Given the description of an element on the screen output the (x, y) to click on. 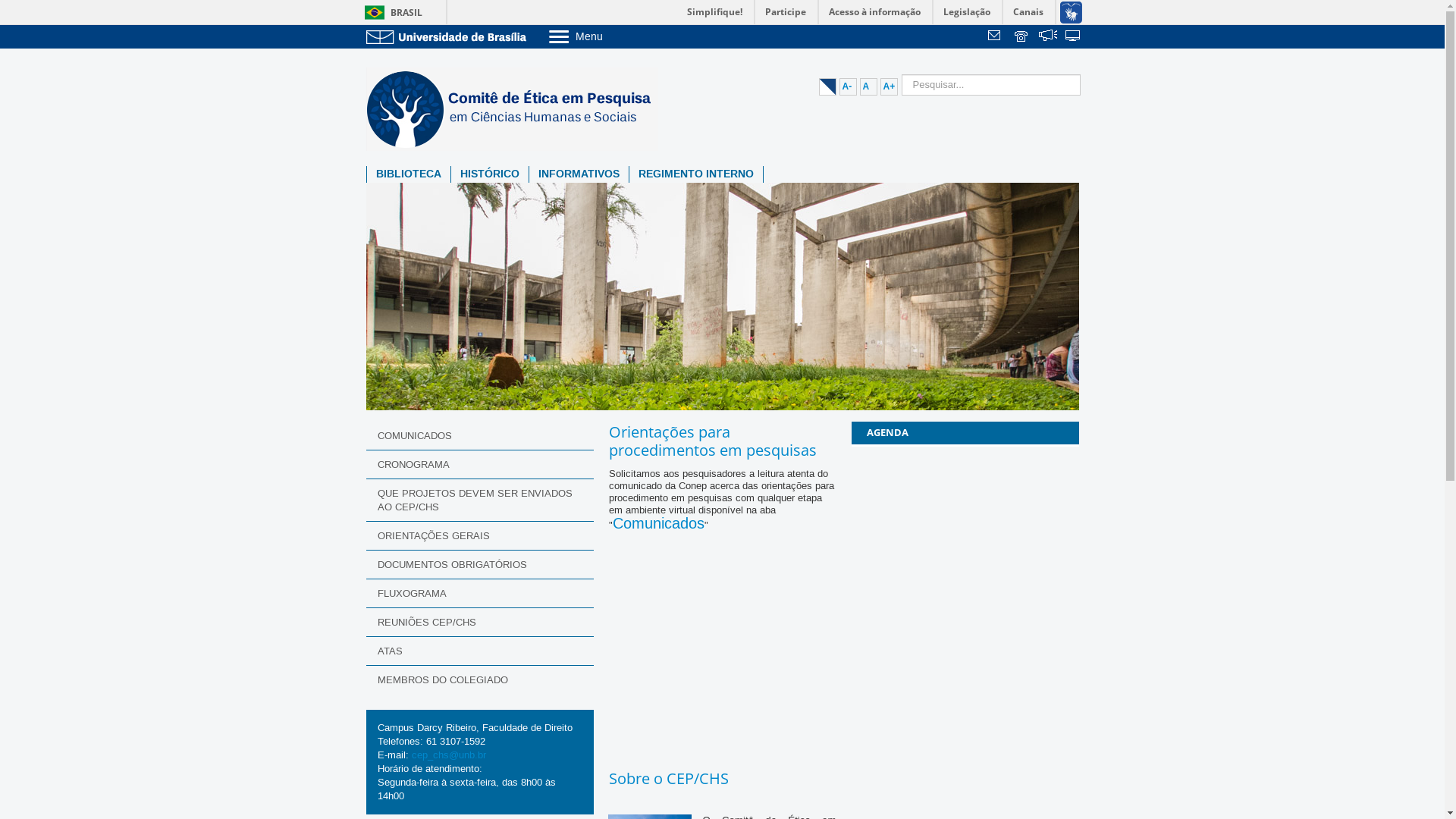
  Element type: text (1047, 37)
CRONOGRAMA Element type: text (479, 464)
Ir para o Portal da UnB Element type: hover (448, 36)
  Element type: text (996, 37)
Webmail Element type: hover (996, 37)
A+ Element type: text (888, 86)
Fala.BR Element type: hover (1047, 37)
FLUXOGRAMA Element type: text (479, 593)
Menu Element type: text (613, 35)
COMUNICADOS Element type: text (479, 435)
cep_chs@unb.br Element type: text (448, 755)
Sobre o CEP/CHS Element type: text (668, 778)
  Element type: text (1022, 37)
  Element type: text (1073, 37)
BRASIL Element type: text (389, 12)
MEMBROS DO COLEGIADO Element type: text (479, 679)
INFORMATIVOS Element type: text (578, 174)
REGIMENTO INTERNO Element type: text (695, 174)
Telefones da UnB Element type: hover (1022, 37)
QUE PROJETOS DEVEM SER ENVIADOS AO CEP/CHS Element type: text (479, 499)
Comunicados Element type: text (658, 523)
A Element type: text (868, 86)
BIBLIOTECA Element type: text (408, 174)
A- Element type: text (847, 86)
ATAS Element type: text (479, 650)
Sistemas Element type: hover (1073, 37)
